Given the description of an element on the screen output the (x, y) to click on. 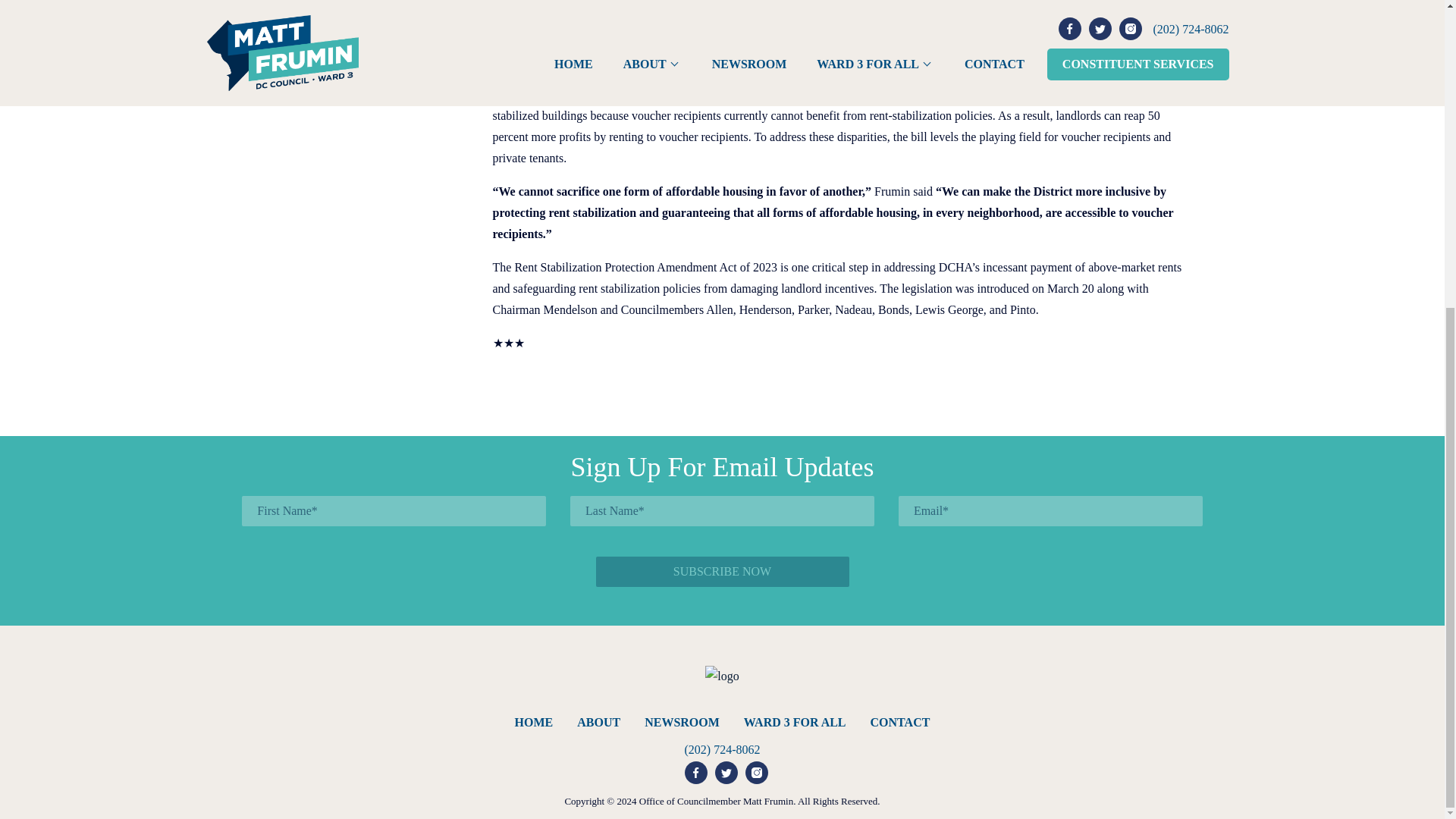
LEARN MORE (303, 66)
LEARN MORE (362, 2)
LEARN MORE (341, 32)
SUBSCRIBE NOW (721, 571)
